Given the description of an element on the screen output the (x, y) to click on. 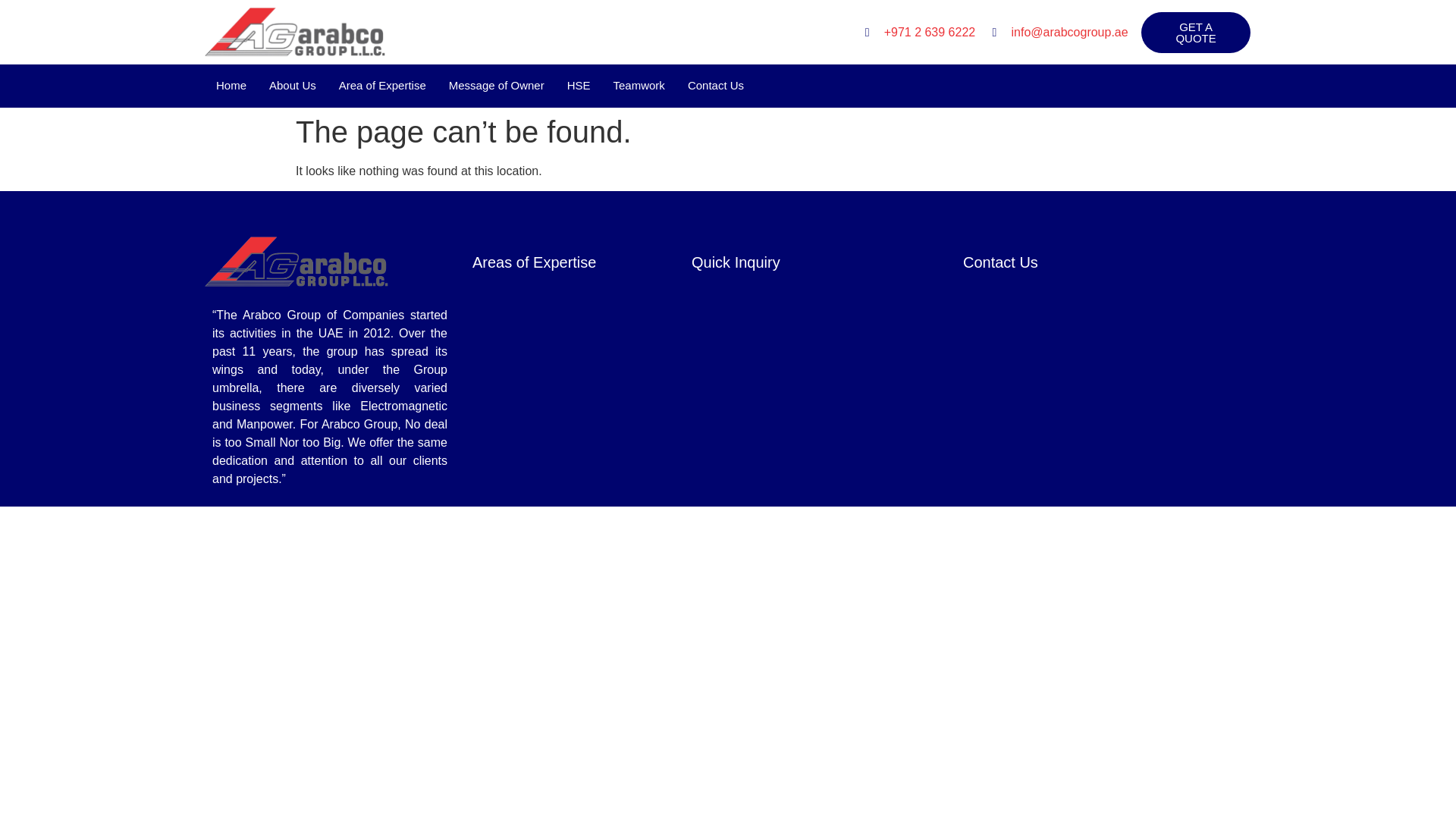
HSE (579, 85)
Teamwork (639, 85)
Areas of Expertise (533, 262)
Message of Owner (497, 85)
Area of Expertise (382, 85)
About Us (292, 85)
Contact Us (716, 85)
GET A QUOTE (1195, 32)
Contact Us (1000, 262)
Home (231, 85)
